Given the description of an element on the screen output the (x, y) to click on. 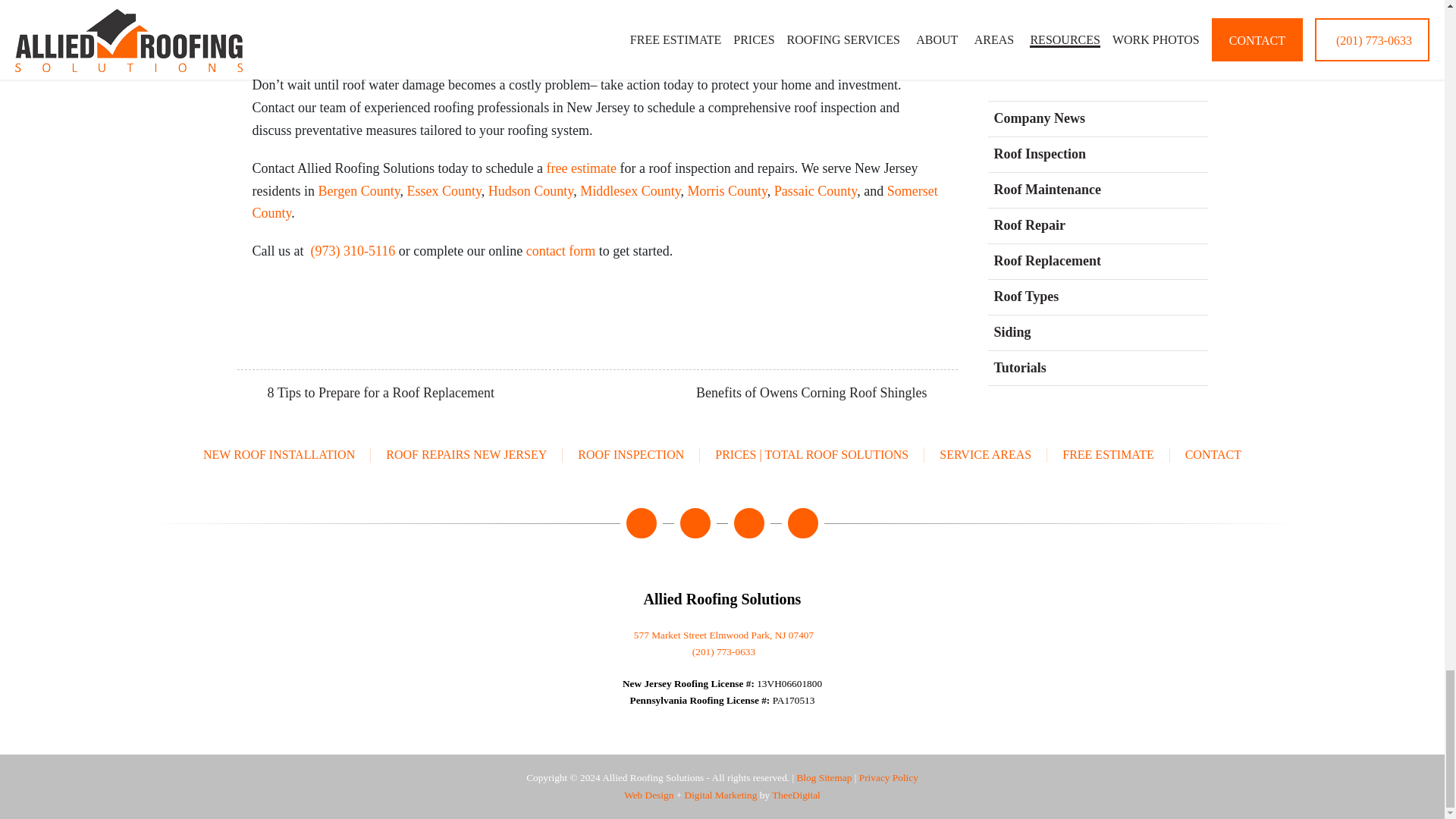
Digital Marketing Agency (720, 794)
Best SEO Agency (796, 794)
Web Design Services (648, 794)
